Given the description of an element on the screen output the (x, y) to click on. 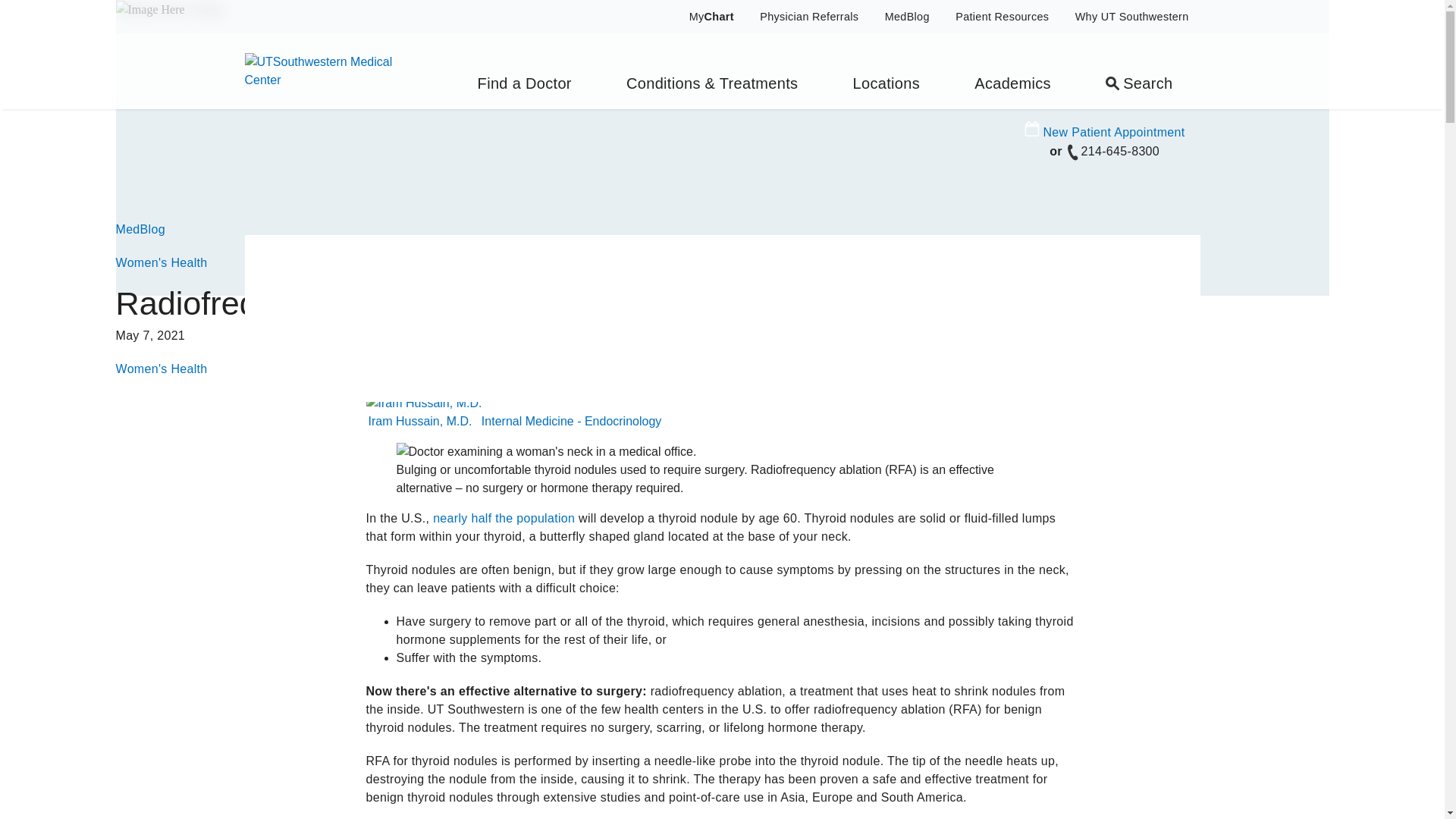
Physician Referrals (808, 17)
Search (1138, 70)
Find a Doctor (523, 70)
Women's Health (160, 262)
Appointment (1032, 128)
Visit the homepage (331, 69)
MyChart (702, 17)
Iram Hussain, M.D. (421, 420)
Academics (1012, 70)
Appointment New Patient Appointment (1105, 132)
